Given the description of an element on the screen output the (x, y) to click on. 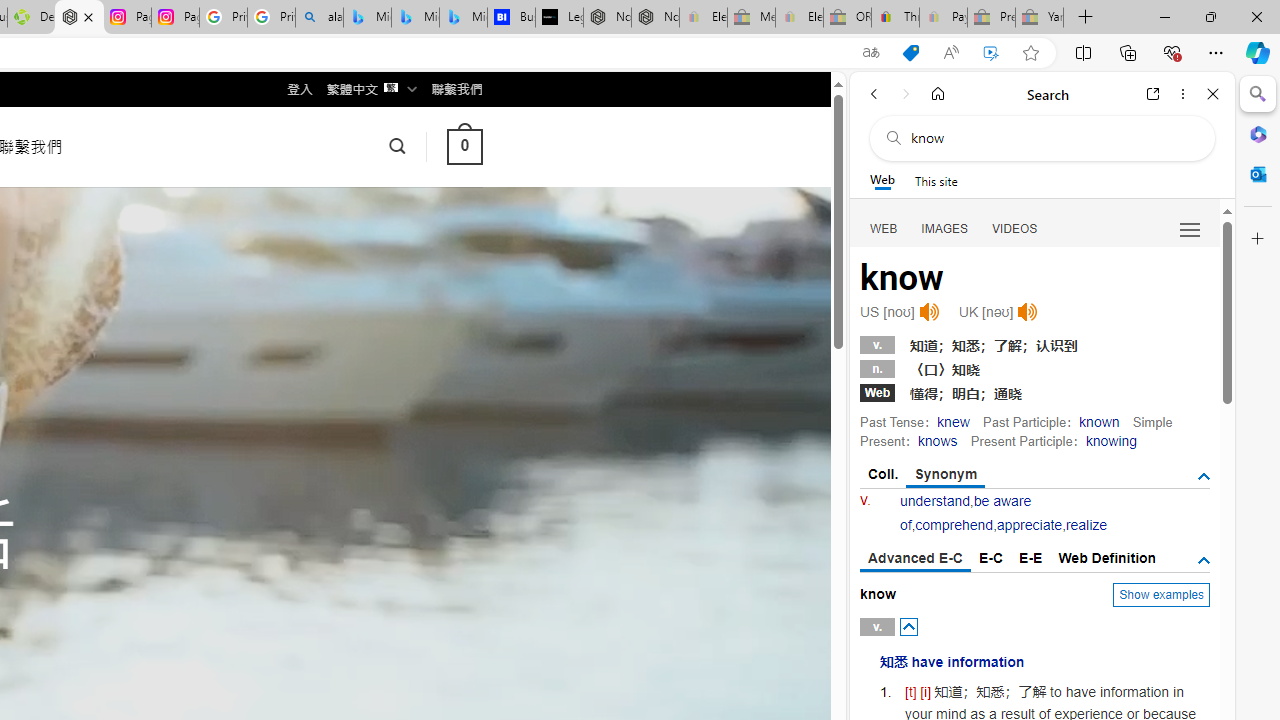
Show translate options (870, 53)
Web Definition (1106, 557)
Coll. (883, 473)
comprehend (954, 524)
alabama high school quarterback dies - Search (319, 17)
